Given the description of an element on the screen output the (x, y) to click on. 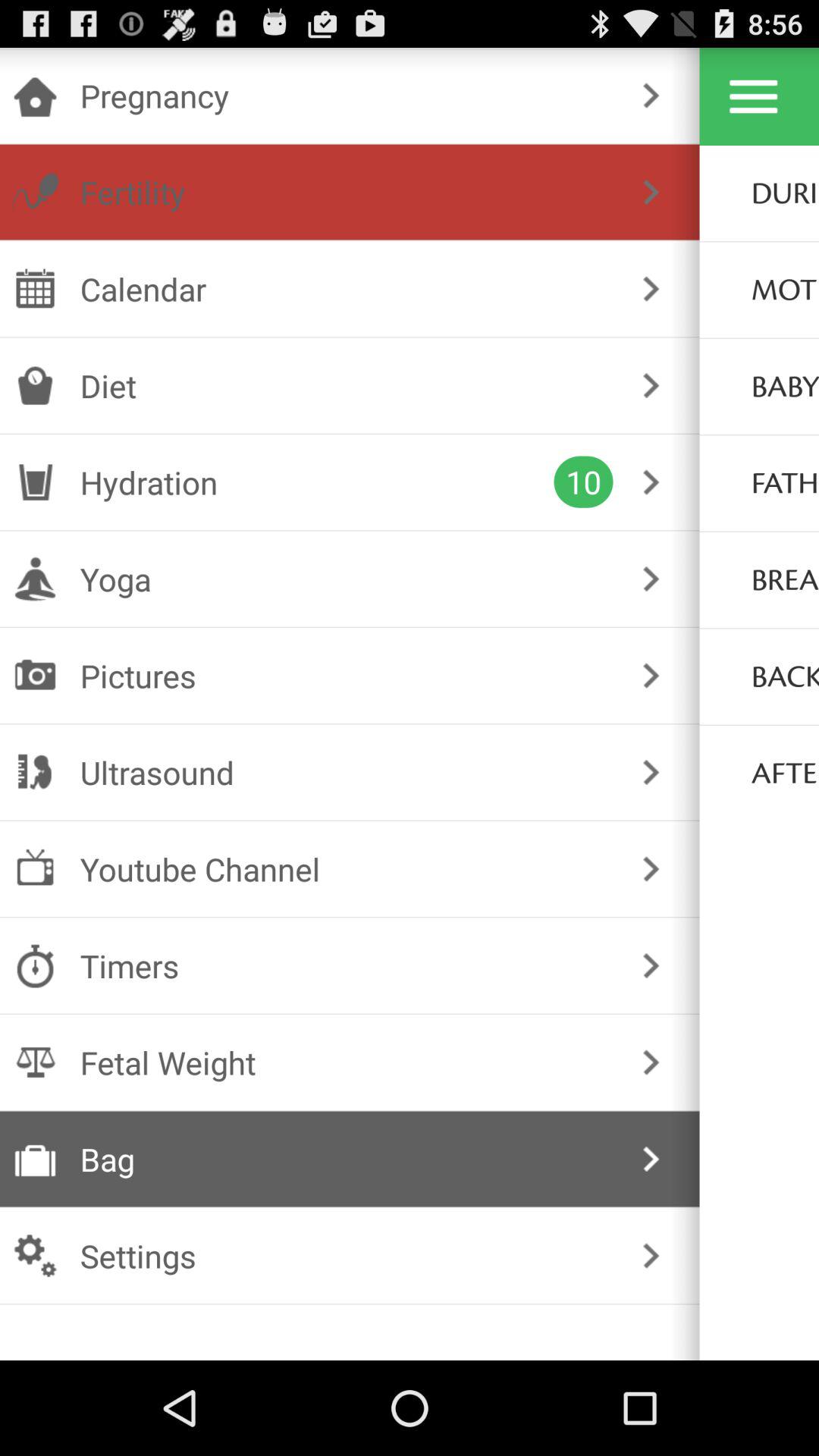
select checkbox to the right of timers icon (651, 965)
